Given the description of an element on the screen output the (x, y) to click on. 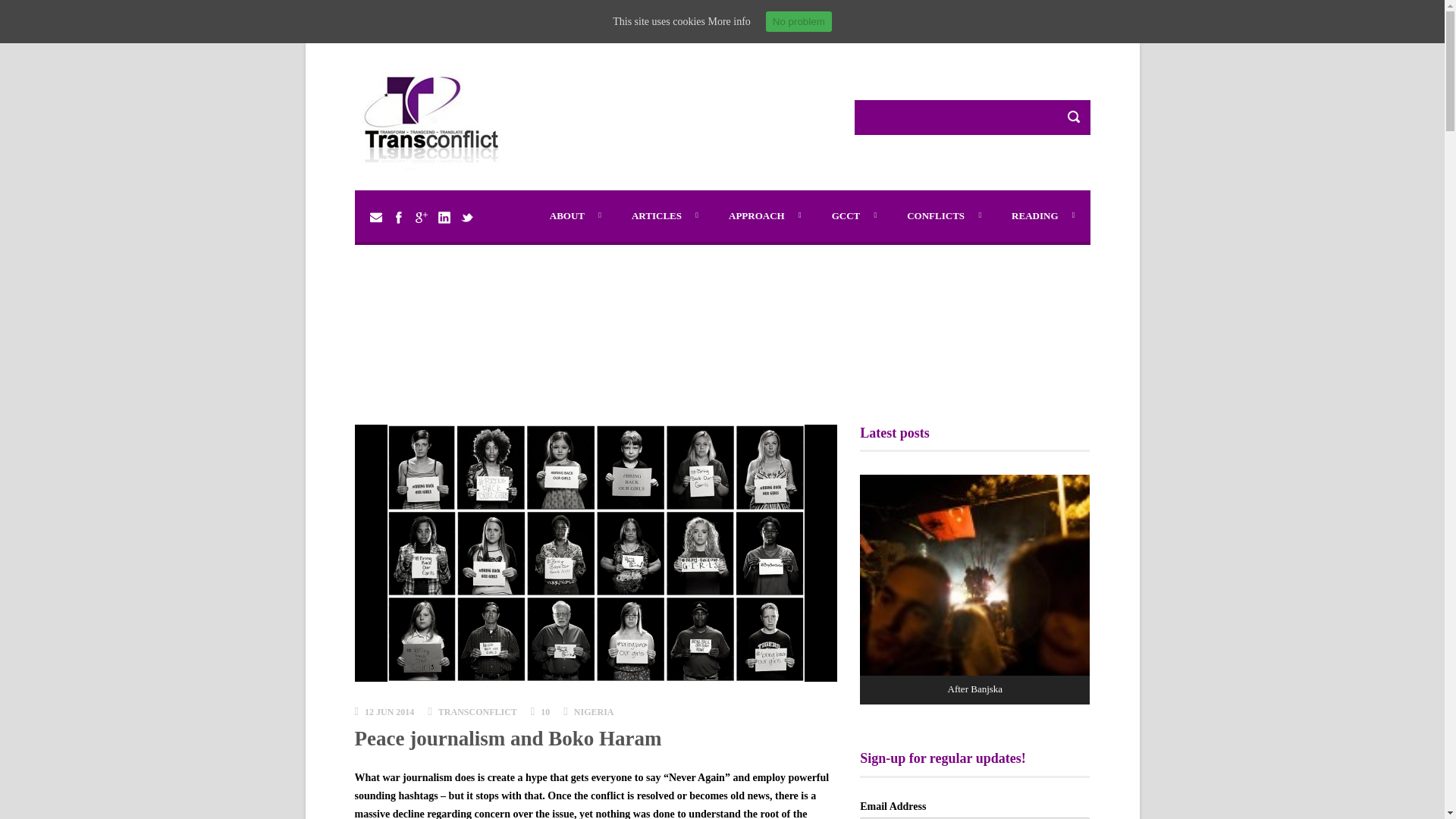
Posts by TransConflict (477, 711)
